Given the description of an element on the screen output the (x, y) to click on. 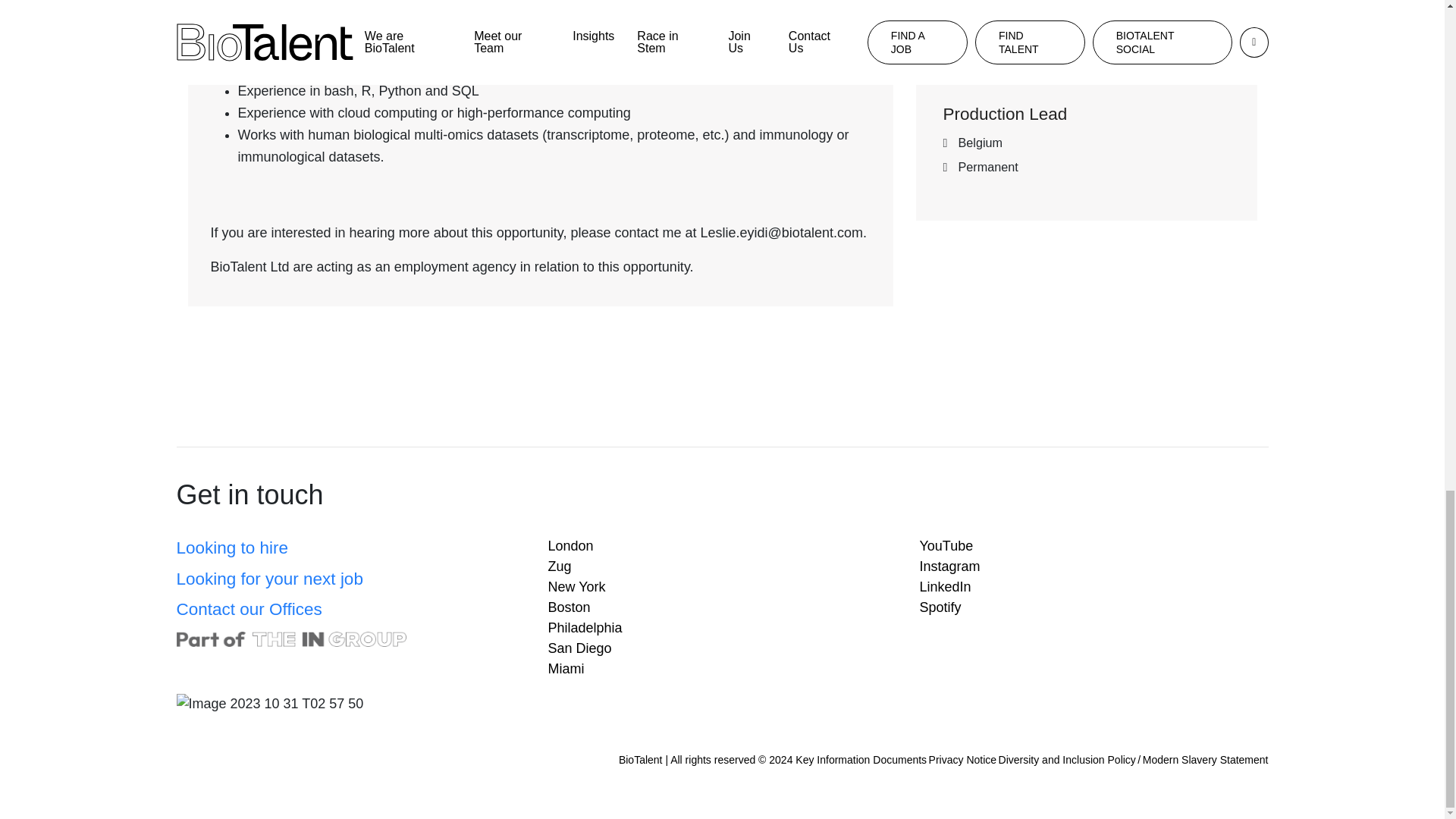
Looking to hire (232, 547)
Production Lead (1005, 113)
